Given the description of an element on the screen output the (x, y) to click on. 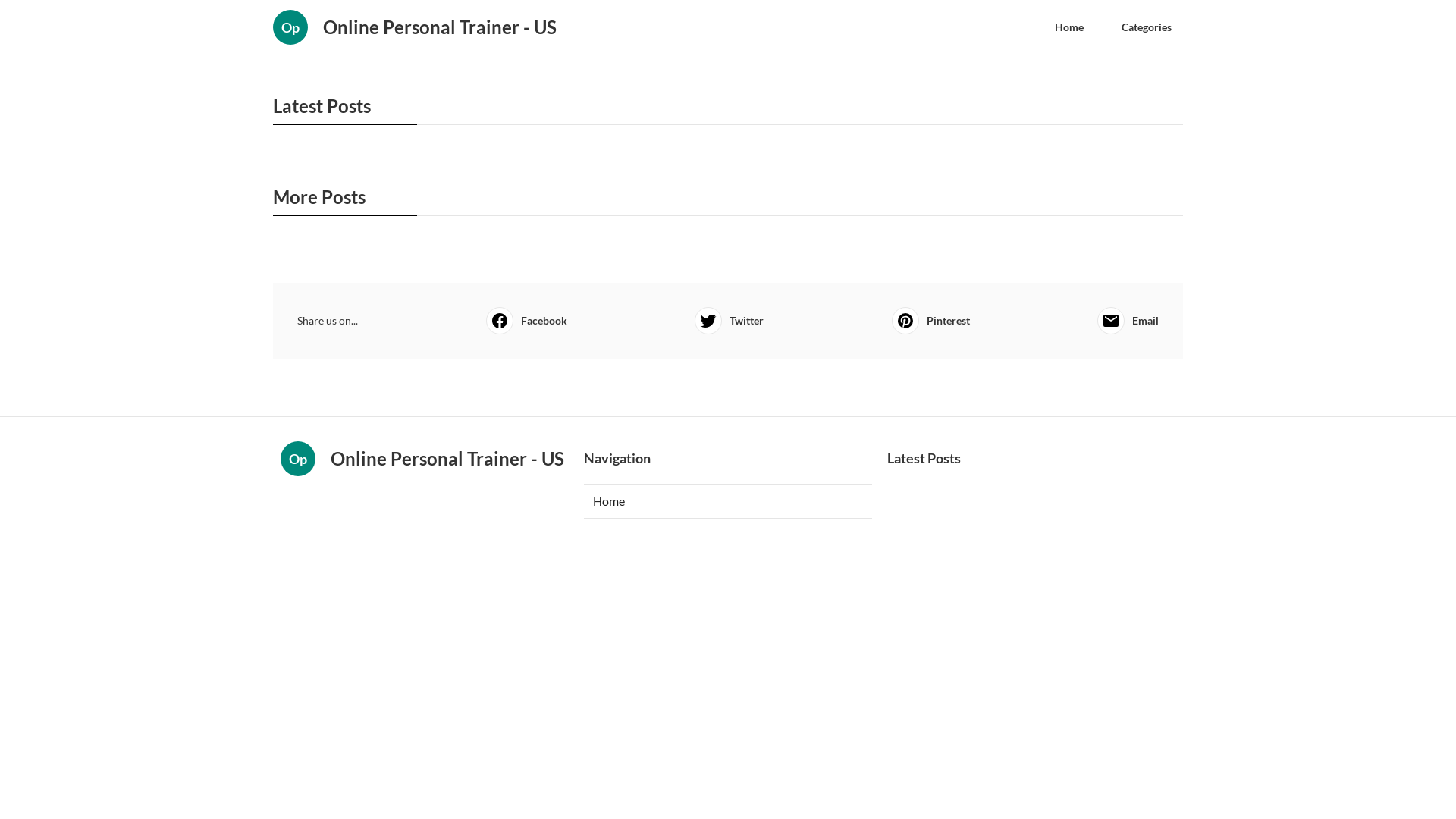
Pinterest Element type: text (930, 320)
Twitter Element type: text (728, 320)
Categories Element type: text (1146, 26)
Facebook Element type: text (525, 320)
Home Element type: text (1069, 26)
Email Element type: text (1127, 320)
Home Element type: text (727, 500)
